Given the description of an element on the screen output the (x, y) to click on. 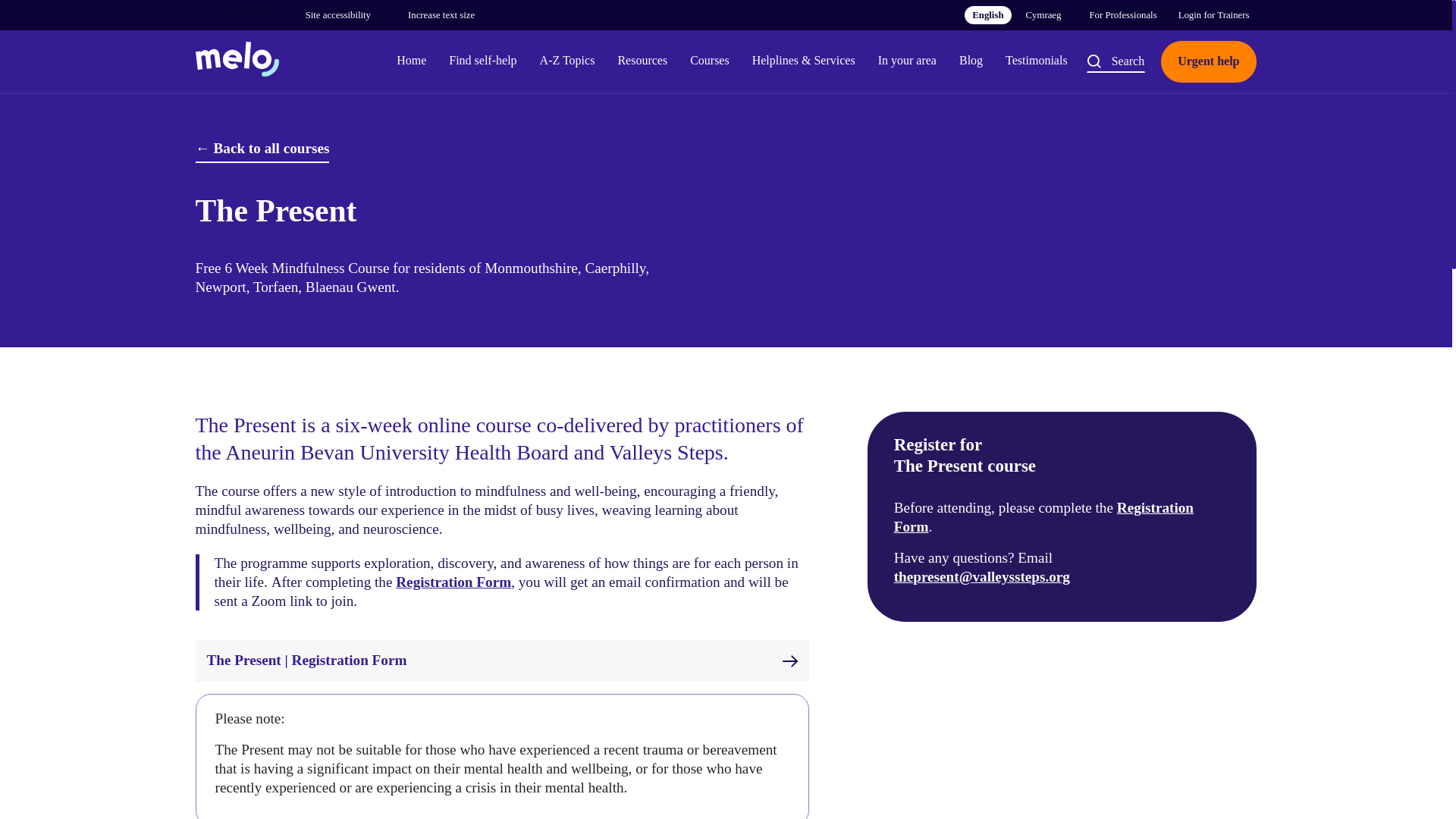
In your area (906, 61)
Find self-help (482, 61)
For Professionals (1122, 15)
Listen with browsealoud (231, 15)
A-Z Topics (567, 61)
Testimonials (1036, 61)
English (986, 15)
Home (411, 61)
Cymraeg (1043, 15)
Urgent help (1207, 61)
